Given the description of an element on the screen output the (x, y) to click on. 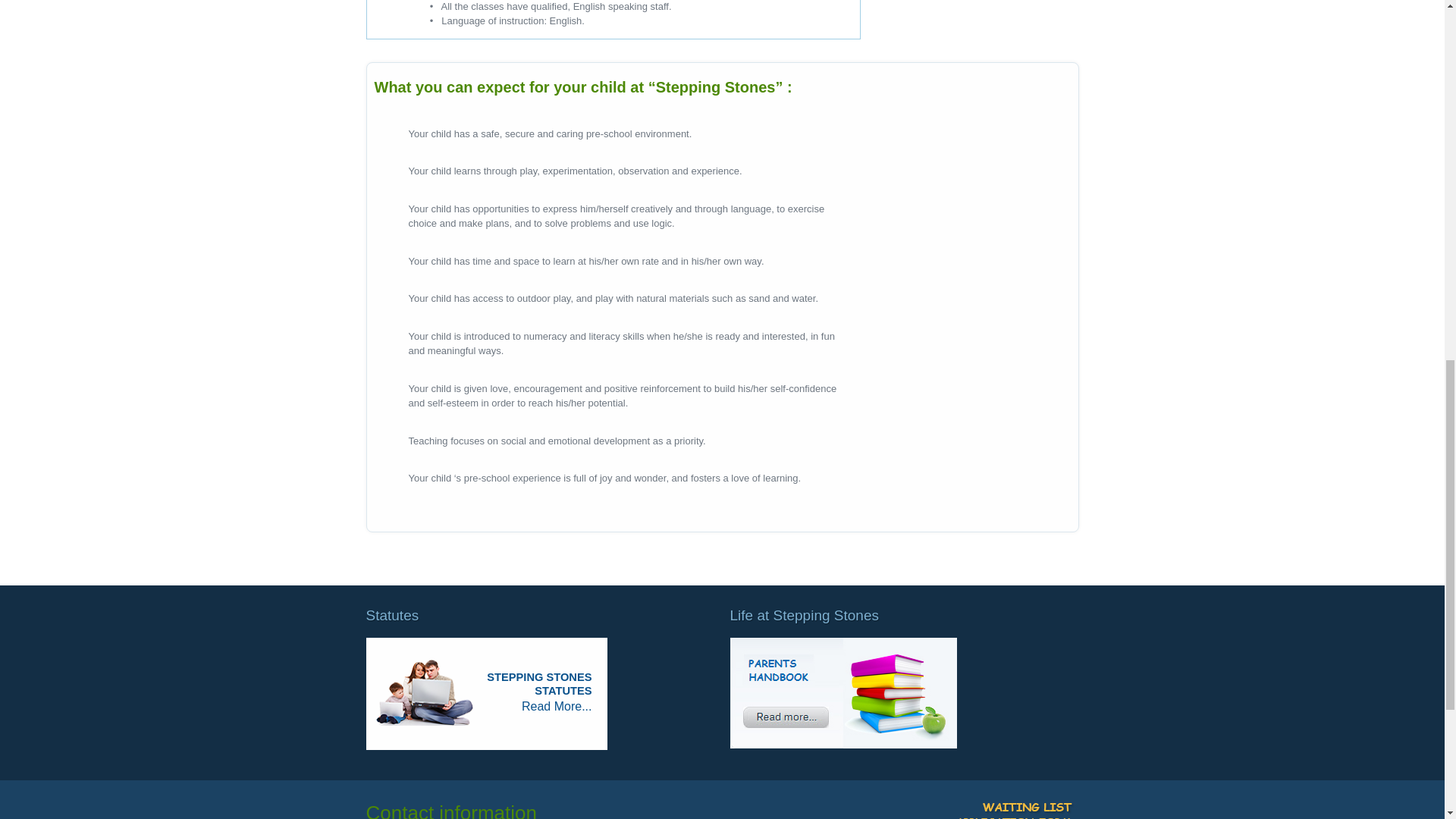
Read More... (556, 706)
